Given the description of an element on the screen output the (x, y) to click on. 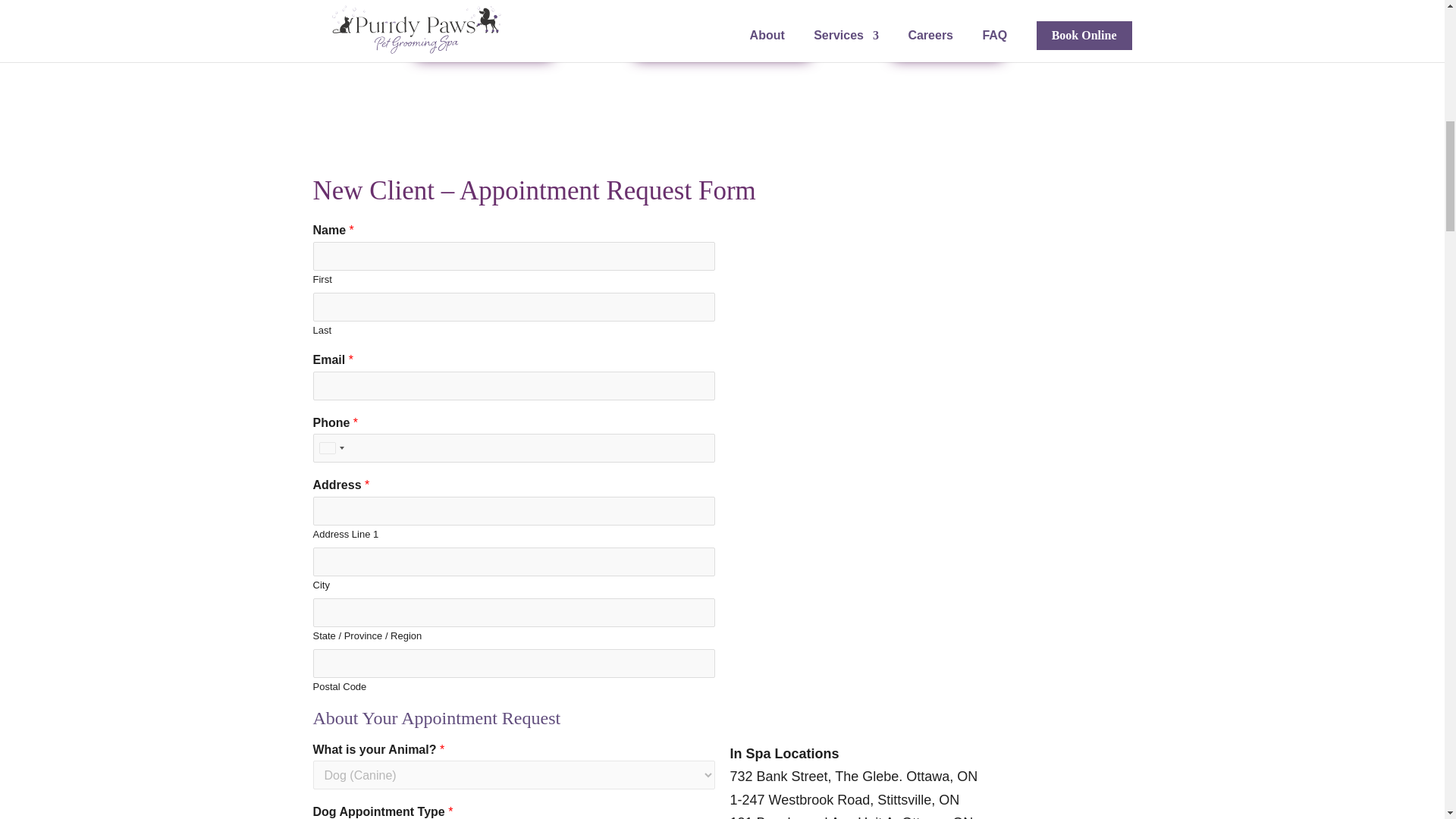
NEW CLIENT (484, 32)
WAIVERS (947, 32)
CURRENT CLIENT (721, 32)
